Given the description of an element on the screen output the (x, y) to click on. 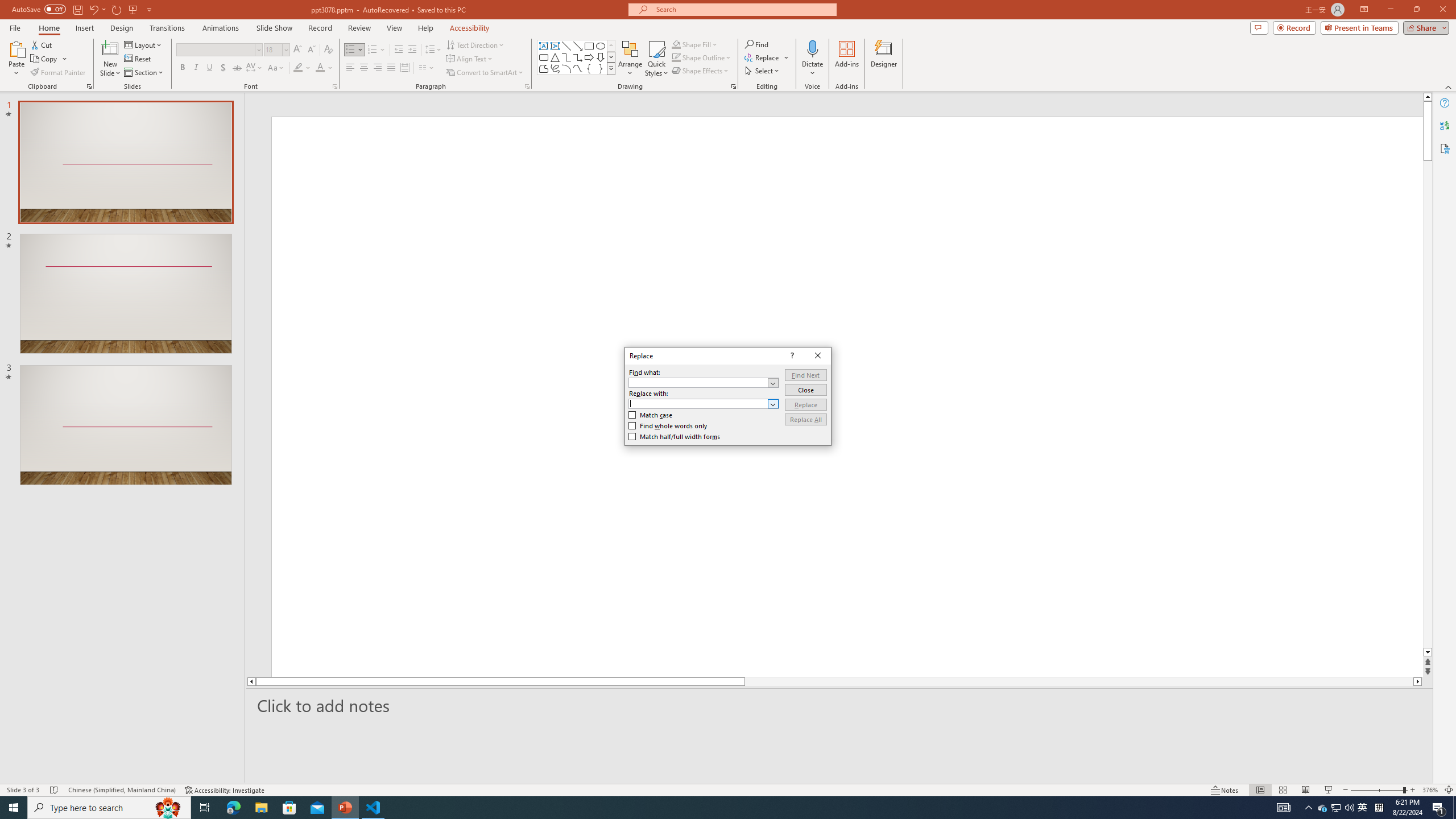
Row up (611, 45)
Q2790: 100% (1349, 807)
PowerPoint - 1 running window (345, 807)
Line Arrow (577, 45)
Microsoft Edge (233, 807)
Find what (703, 382)
Paragraph... (526, 85)
Dictate (812, 58)
Copy (49, 58)
Arc (566, 68)
Shape Fill (694, 44)
